Given the description of an element on the screen output the (x, y) to click on. 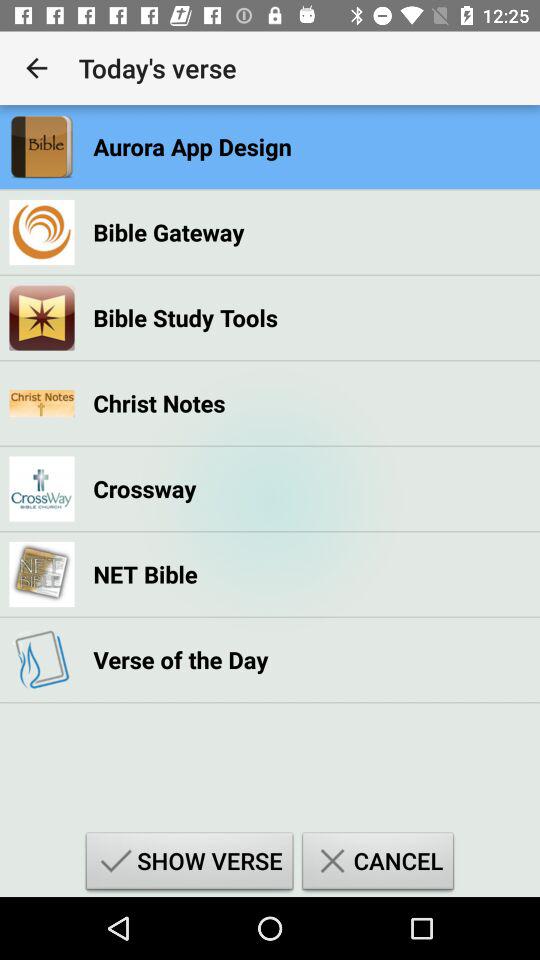
press crossway (144, 488)
